Given the description of an element on the screen output the (x, y) to click on. 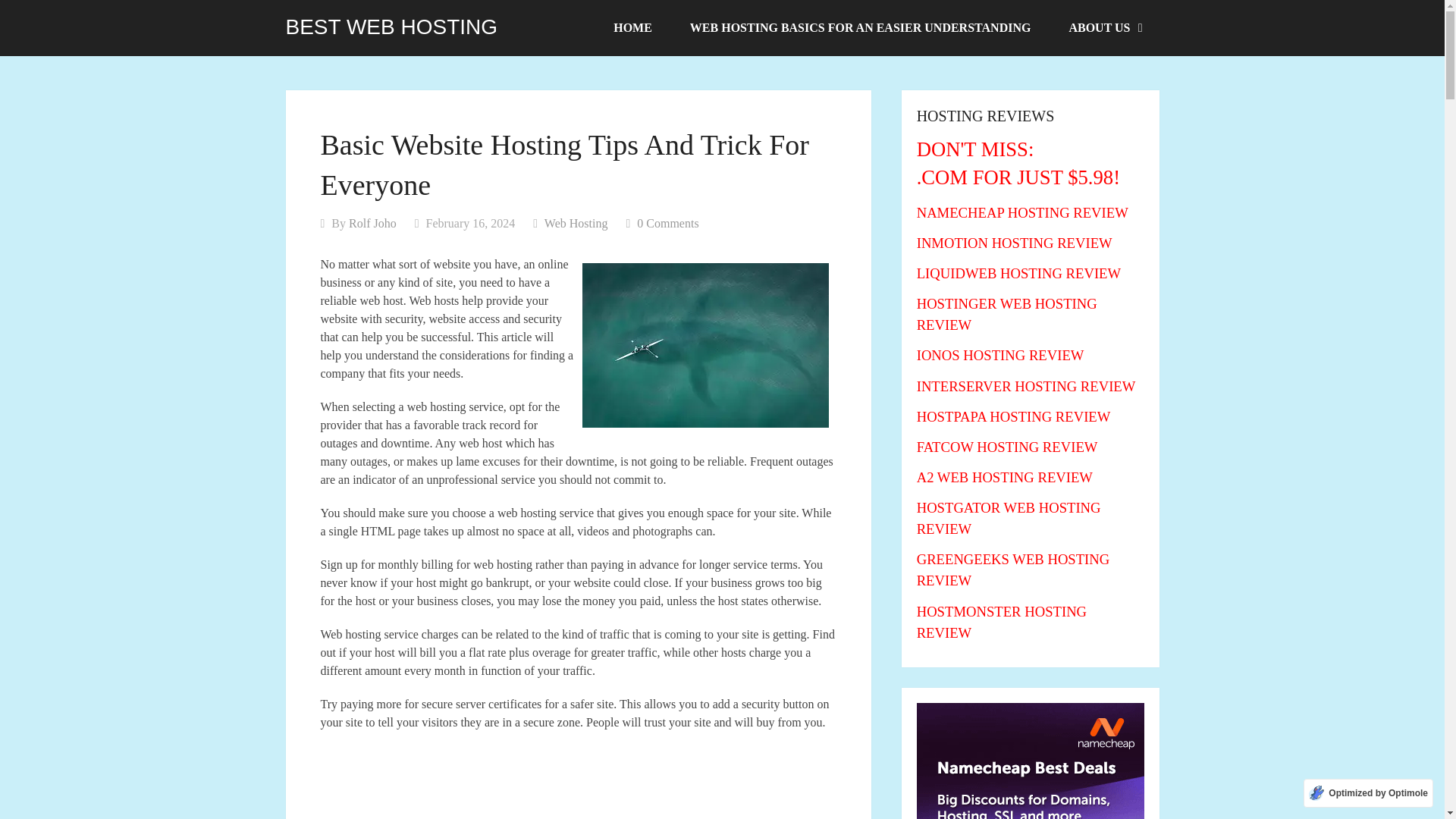
WEB HOSTING BASICS FOR AN EASIER UNDERSTANDING (860, 28)
Rolf Joho (372, 223)
INTERSERVER HOSTING REVIEW (1026, 385)
HOME (632, 28)
Basic Website Hosting Tips And Trick For Everyone (705, 344)
Web Hosting (576, 223)
IONOS HOSTING REVIEW (1000, 355)
LIQUIDWEB HOSTING REVIEW (1019, 273)
HOSTMONSTER HOSTING REVIEW (1001, 621)
BEST WEB HOSTING (391, 26)
HOSTGATOR WEB HOSTING REVIEW (1008, 518)
HOSTPAPA HOSTING REVIEW (1013, 416)
INMOTION HOSTING REVIEW (1014, 242)
GREENGEEKS WEB HOSTING REVIEW (1013, 569)
Posts by Rolf Joho (372, 223)
